Given the description of an element on the screen output the (x, y) to click on. 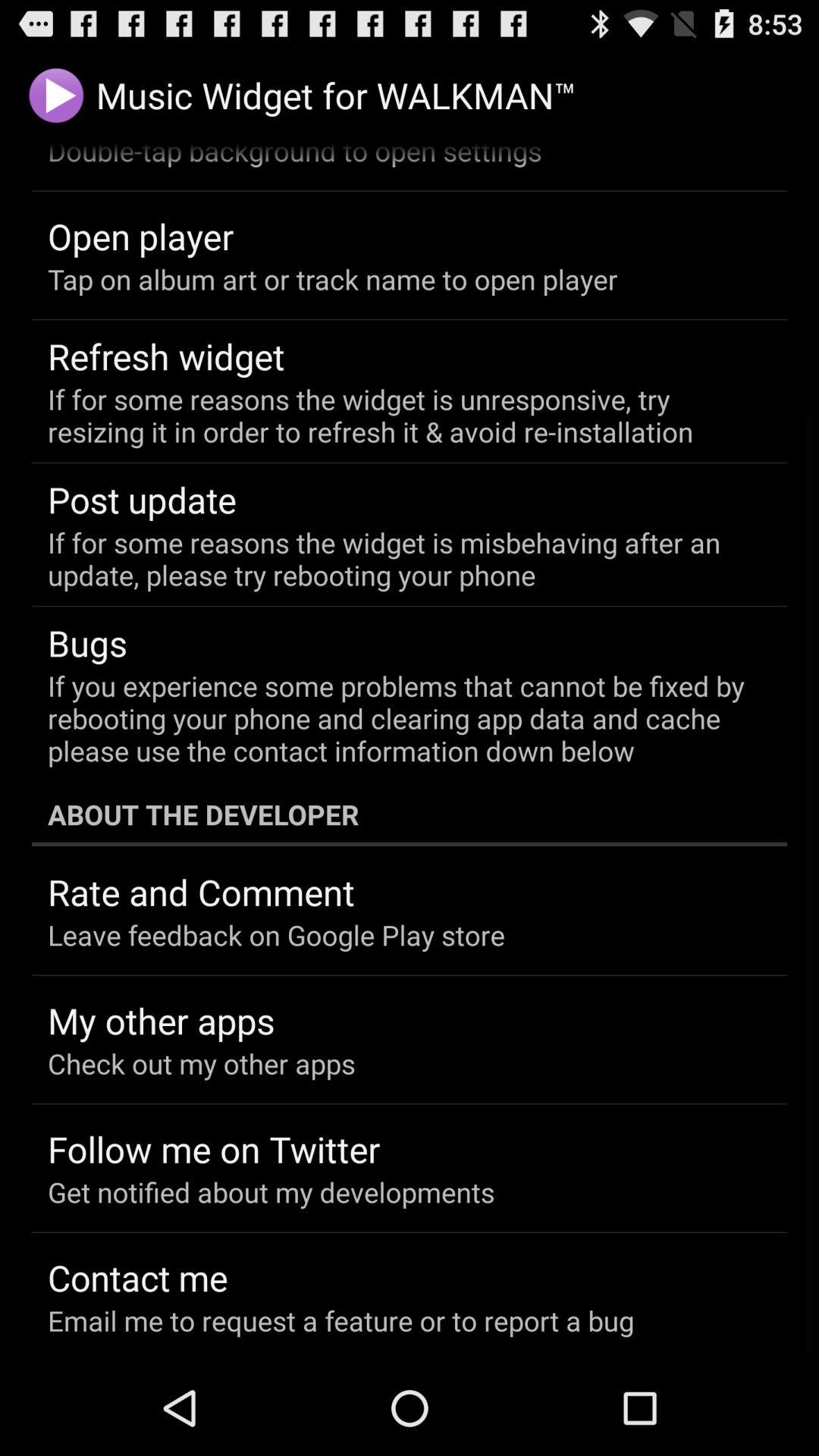
launch item below check out my item (213, 1148)
